Given the description of an element on the screen output the (x, y) to click on. 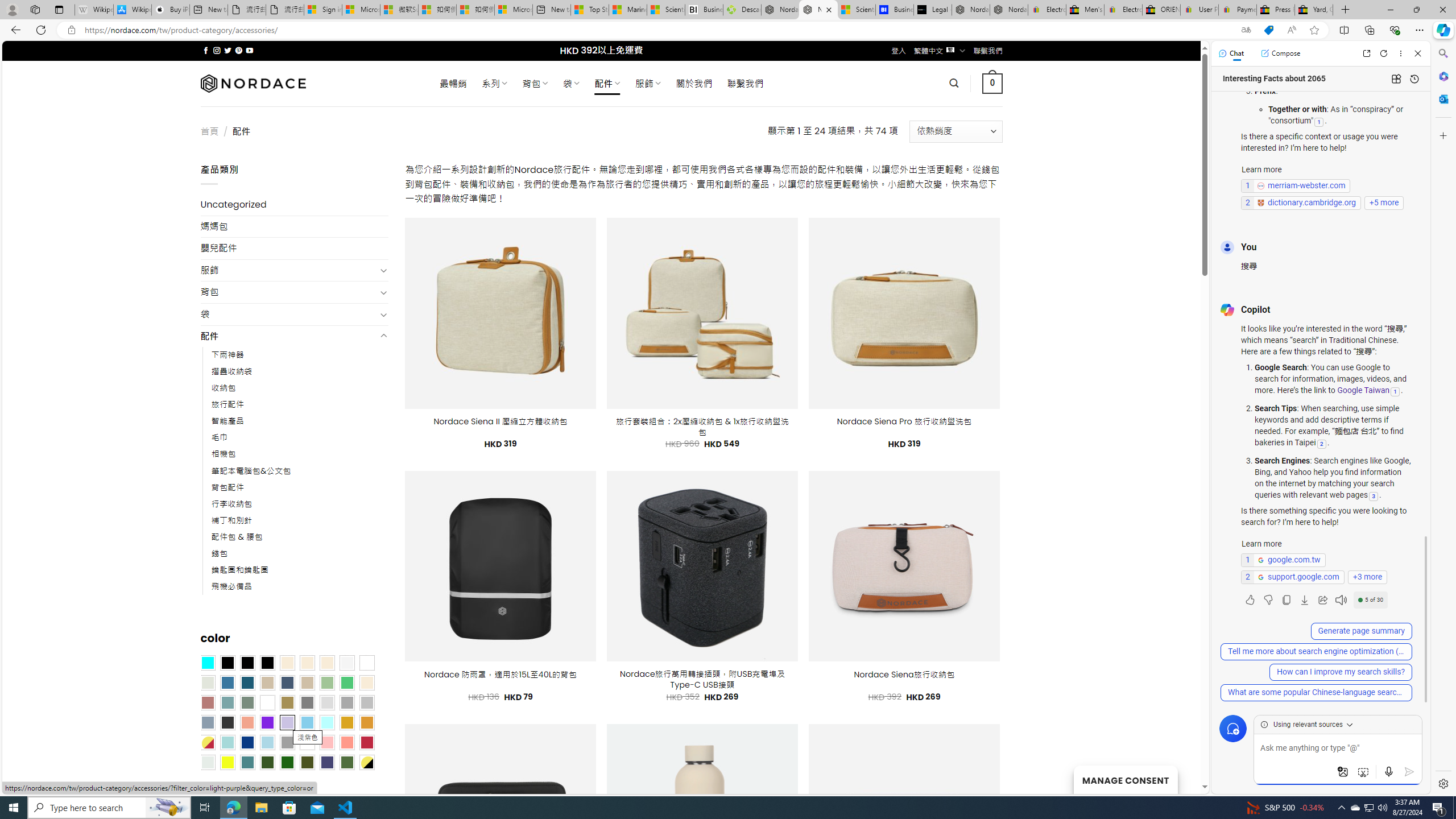
MANAGE CONSENT (1125, 779)
